Given the description of an element on the screen output the (x, y) to click on. 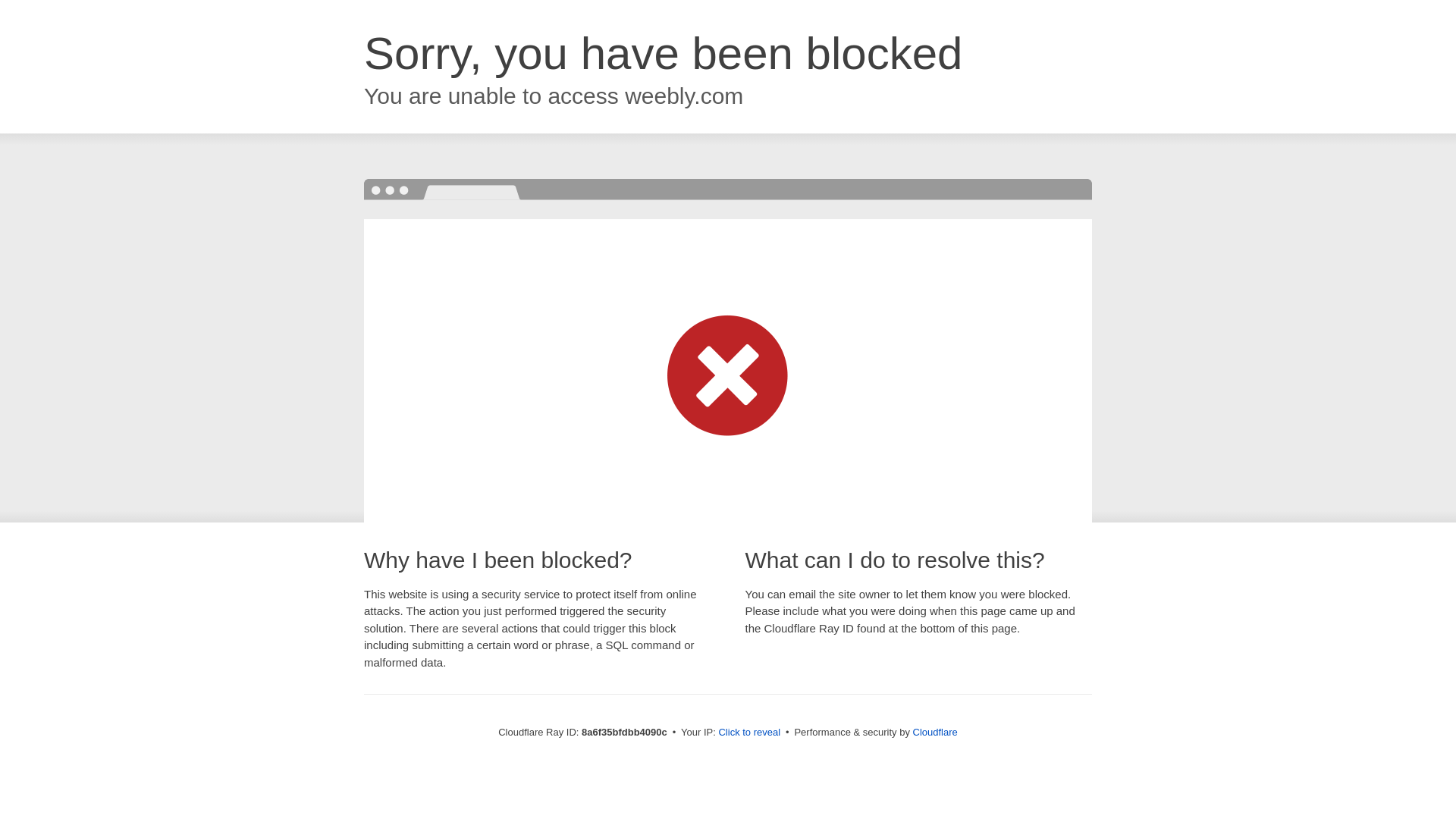
Click to reveal (748, 732)
Cloudflare (935, 731)
